Given the description of an element on the screen output the (x, y) to click on. 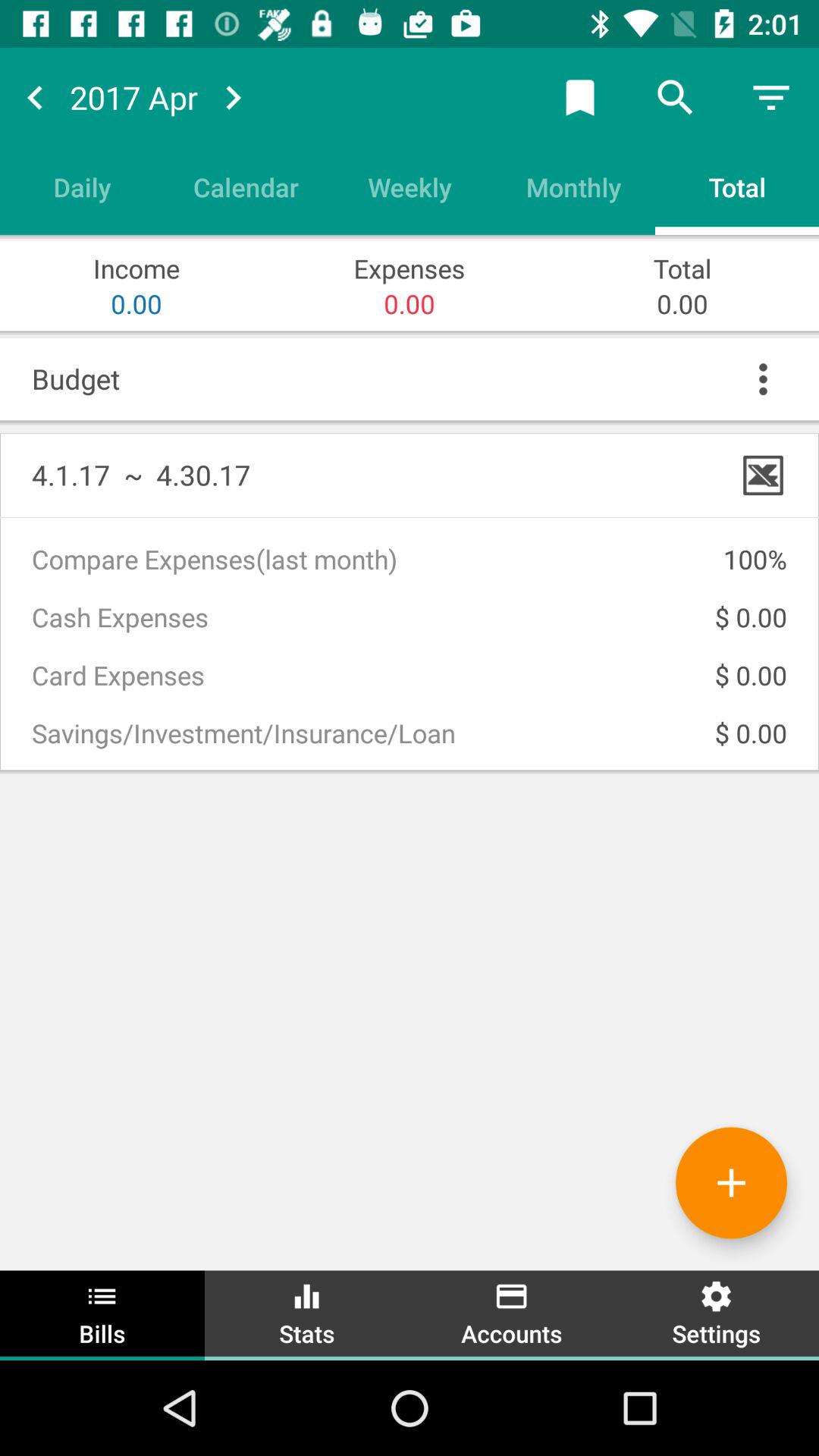
open the item to the right of the calendar (409, 186)
